Given the description of an element on the screen output the (x, y) to click on. 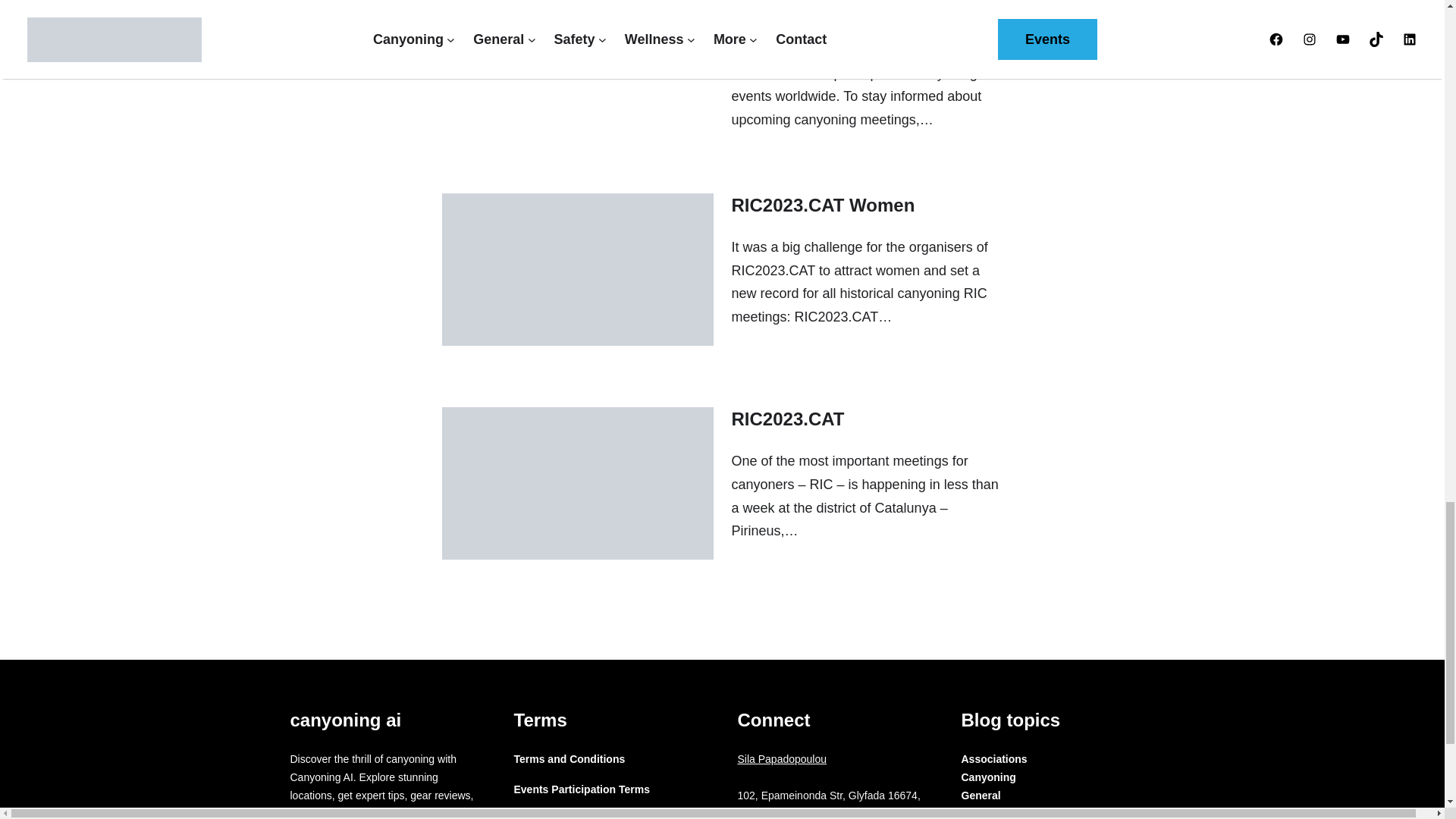
Terms and Conditions (569, 760)
GDPR (528, 815)
canyoning ai (345, 720)
Events Participation Terms (581, 790)
Sila Papadopoulou (781, 758)
RIC2023.CAT Women (822, 205)
RIC2023.CAT (787, 419)
